Given the description of an element on the screen output the (x, y) to click on. 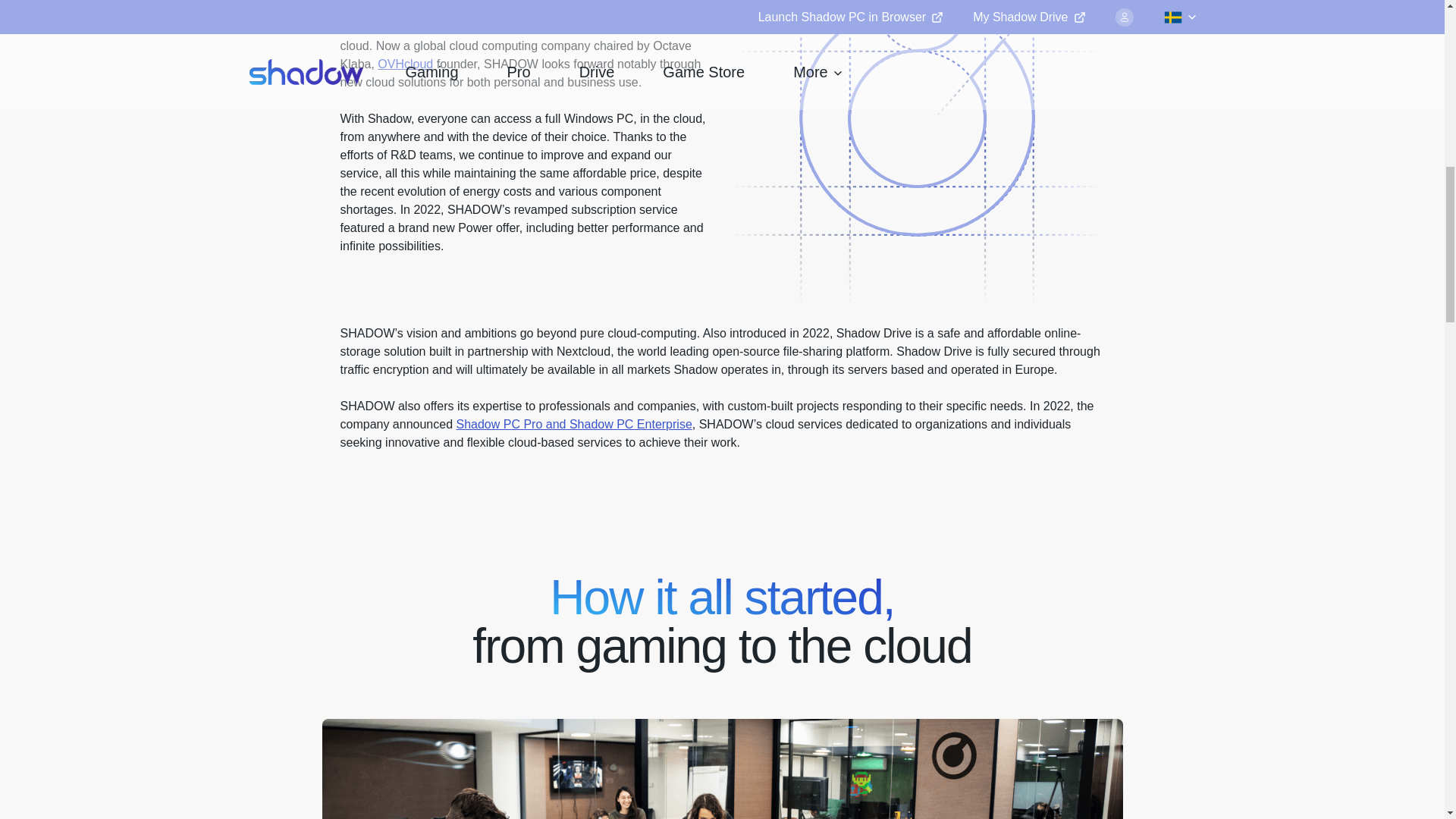
OVHcloud (404, 63)
Shadow PC Pro and Shadow PC Enterprise (575, 423)
